Given the description of an element on the screen output the (x, y) to click on. 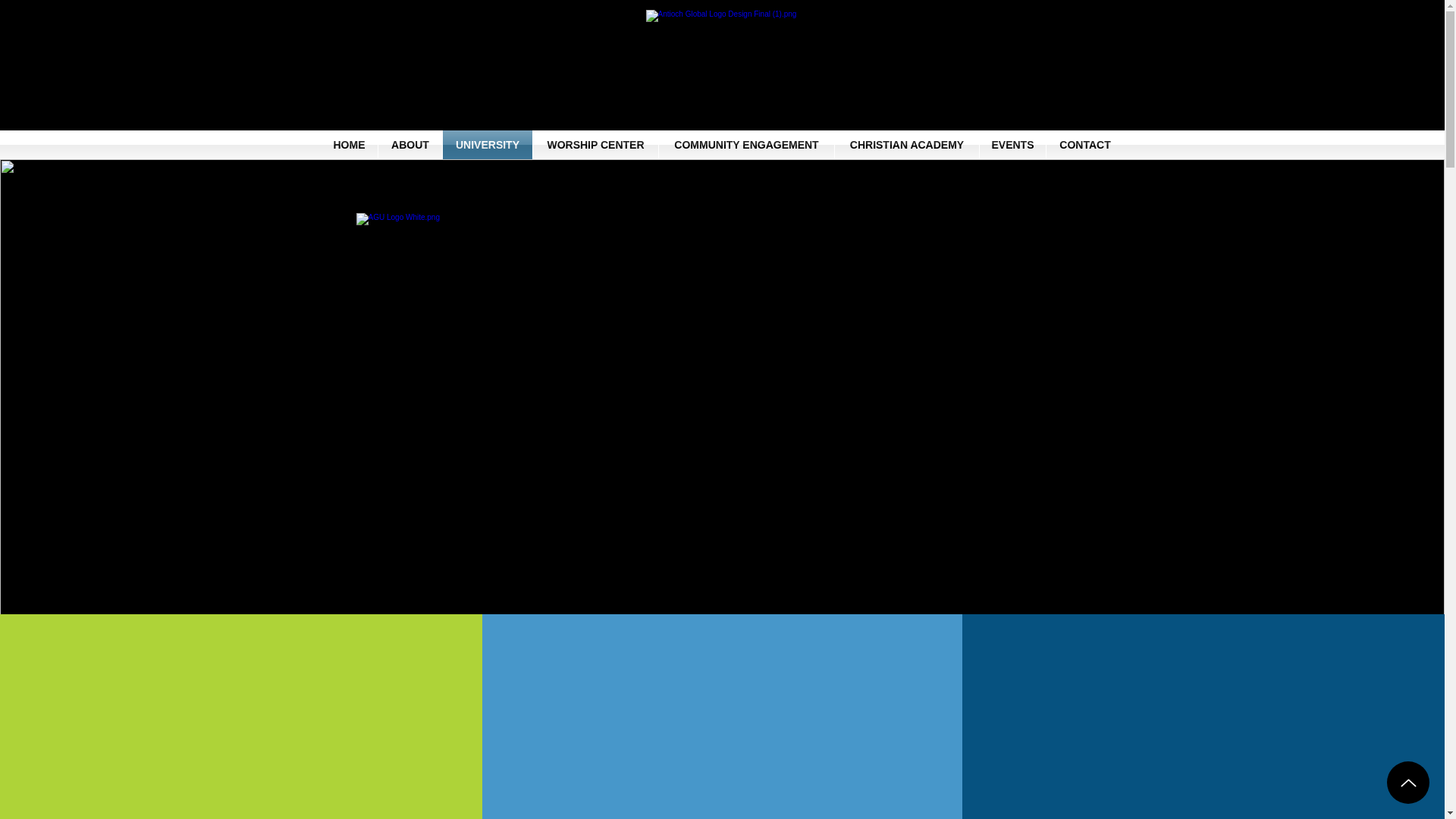
HOME (348, 144)
EVENTS (1012, 144)
CHRISTIAN ACADEMY (906, 144)
ABOUT (410, 144)
COMMUNITY ENGAGEMENT (746, 144)
WORSHIP CENTER (595, 144)
UNIVERSITY (487, 144)
CONTACT (1085, 144)
